Given the description of an element on the screen output the (x, y) to click on. 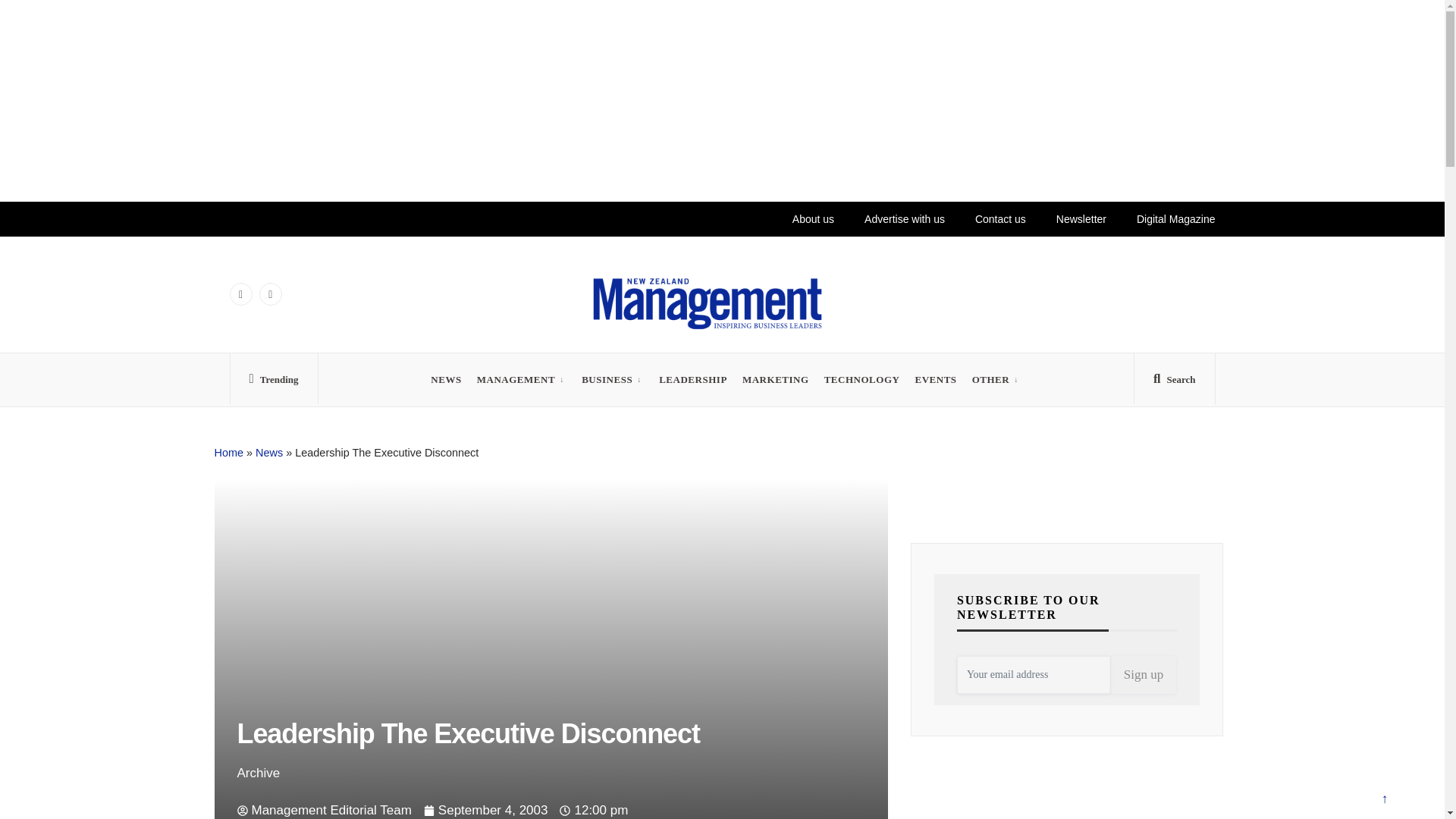
TECHNOLOGY (861, 379)
NEWS (445, 379)
About us (812, 218)
Home (228, 452)
LEADERSHIP (692, 379)
Scroll to top (1384, 800)
Newsletter (1081, 218)
Advertise with us (903, 218)
EVENTS (935, 379)
